Given the description of an element on the screen output the (x, y) to click on. 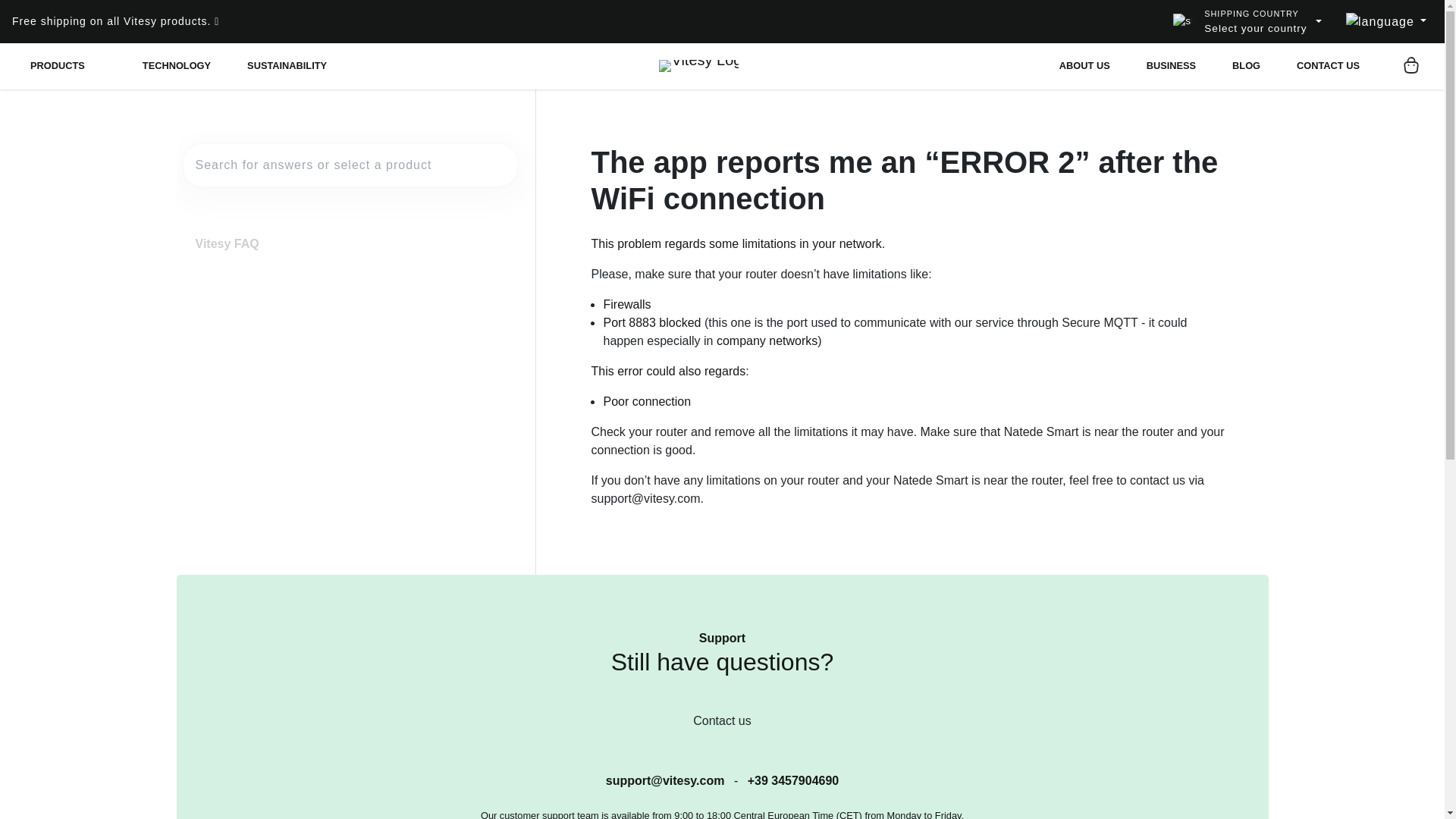
Contact us (721, 720)
BUSINESS (1171, 66)
TECHNOLOGY (175, 66)
PRODUCTS (67, 65)
CONTACT US (1327, 66)
Vitesy FAQ (227, 243)
ABOUT US (1084, 66)
BLOG (1246, 66)
Language (1385, 20)
Your cart (1411, 65)
